Given the description of an element on the screen output the (x, y) to click on. 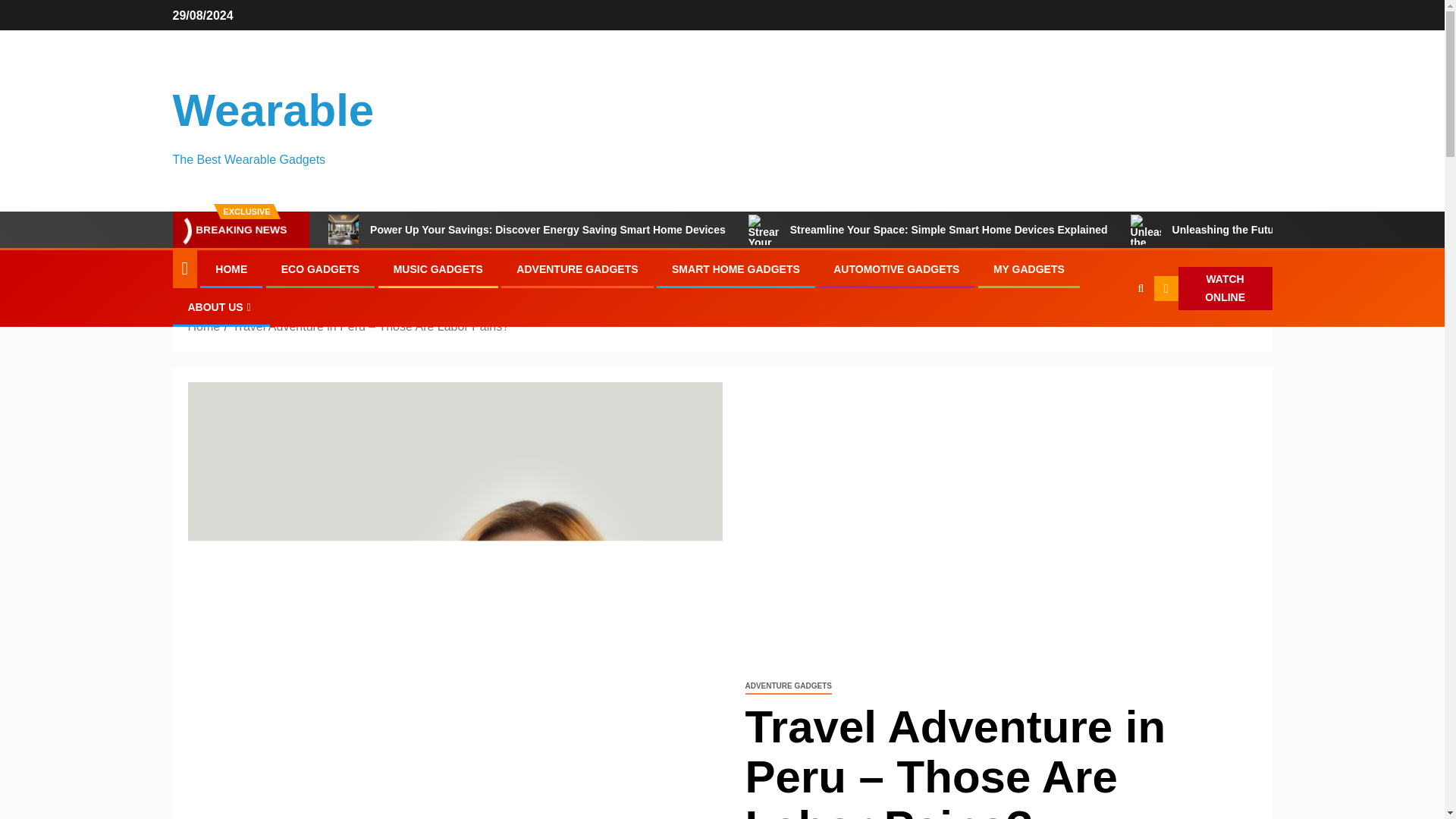
ADVENTURE GADGETS (787, 686)
ABOUT US (220, 306)
ECO GADGETS (320, 268)
MY GADGETS (1028, 268)
MUSIC GADGETS (438, 268)
Home (204, 326)
Streamline Your Space: Simple Smart Home Devices Explained (927, 229)
ADVENTURE GADGETS (576, 268)
Search (1110, 335)
